Given the description of an element on the screen output the (x, y) to click on. 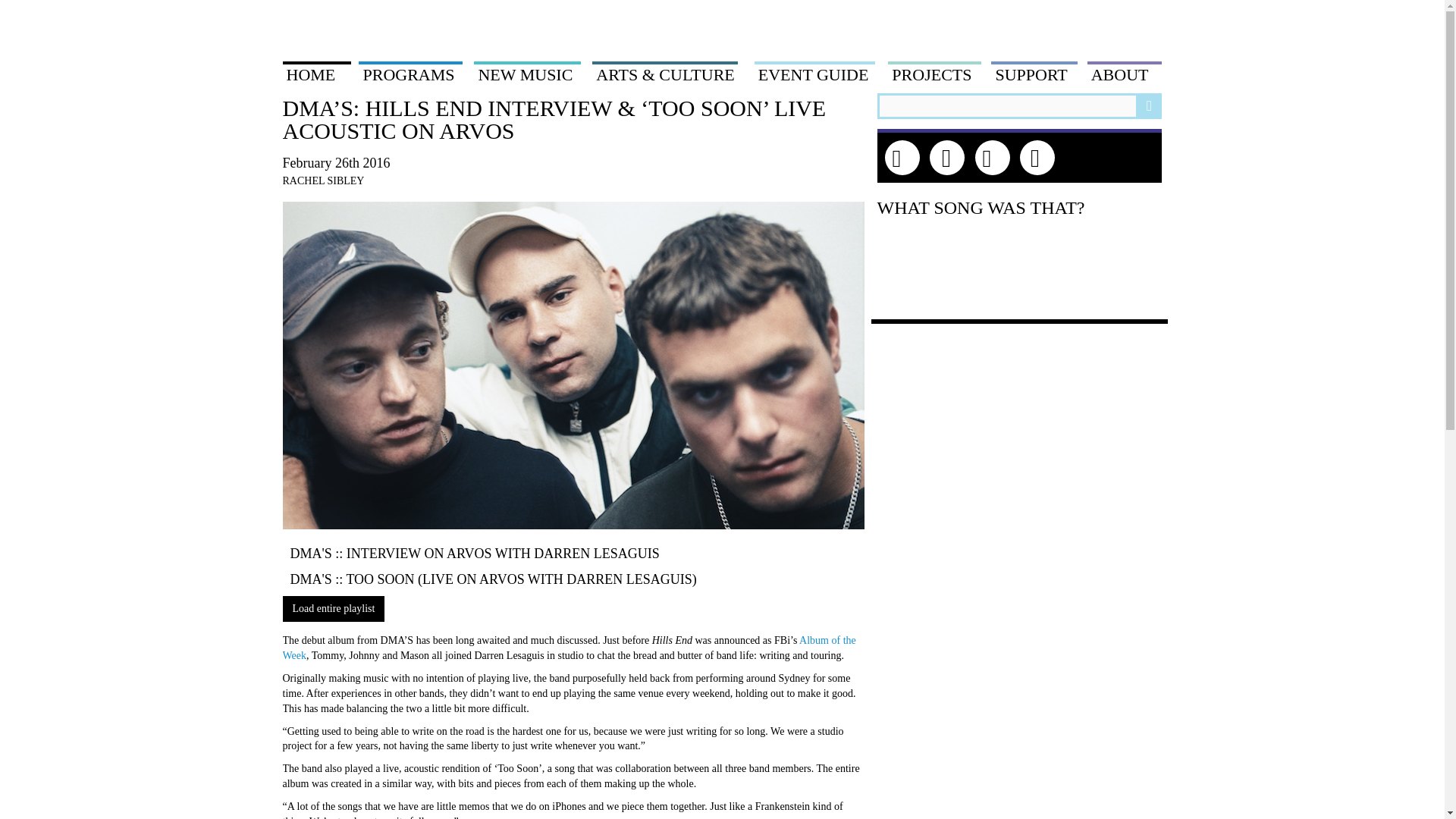
PROJECTS (934, 73)
NEW MUSIC (526, 73)
PROGRAMS (410, 73)
EVENT GUIDE (814, 73)
Posts by Rachel Sibley (323, 180)
Search for: (1018, 105)
HOME (316, 73)
SUPPORT (1034, 73)
